Given the description of an element on the screen output the (x, y) to click on. 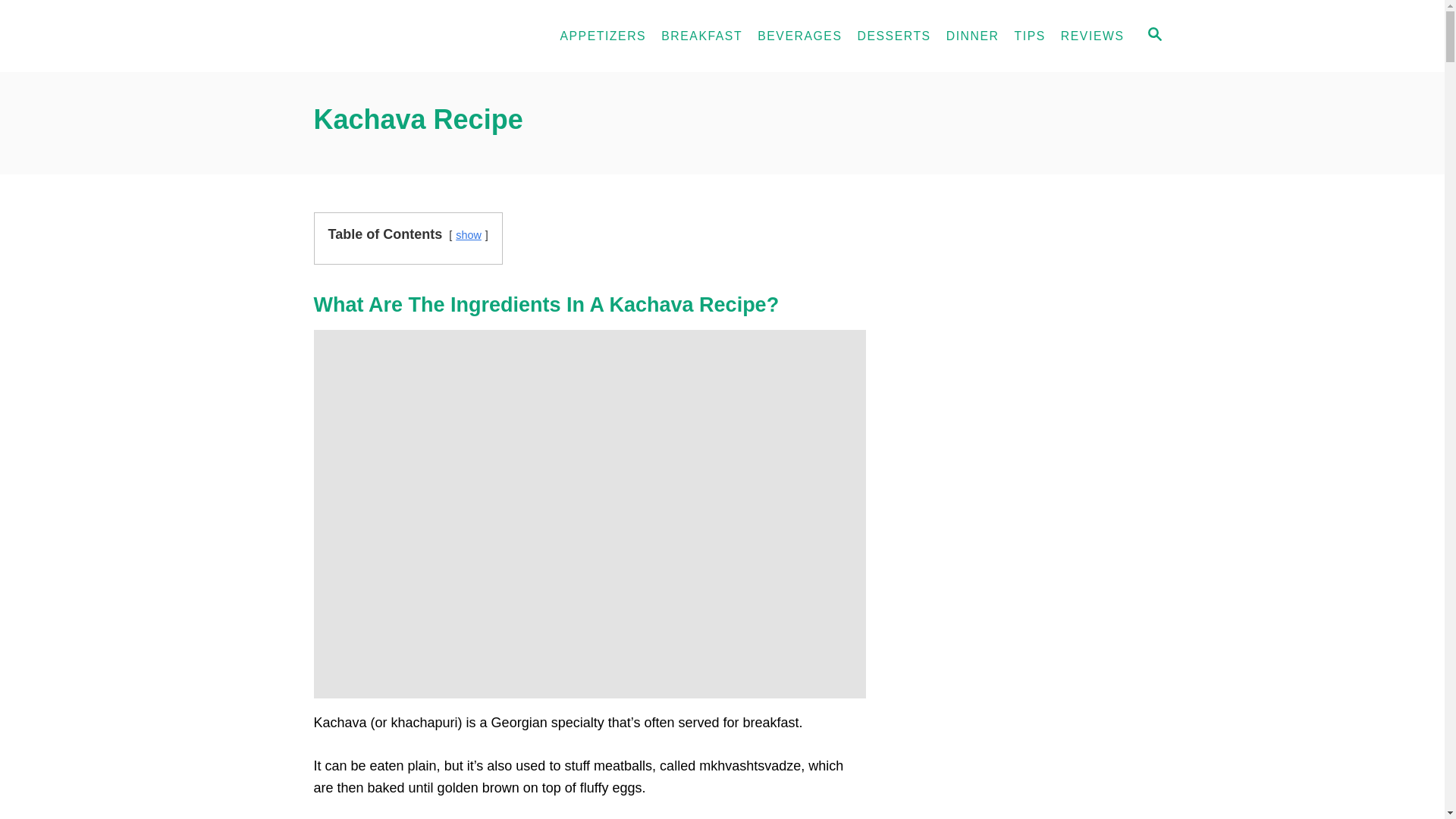
DINNER (973, 36)
BEVERAGES (798, 36)
APPETIZERS (602, 36)
BREAKFAST (701, 36)
REVIEWS (1092, 36)
show (468, 234)
Kitchenarry (394, 36)
TIPS (1029, 36)
SEARCH (1154, 35)
DESSERTS (892, 36)
